Given the description of an element on the screen output the (x, y) to click on. 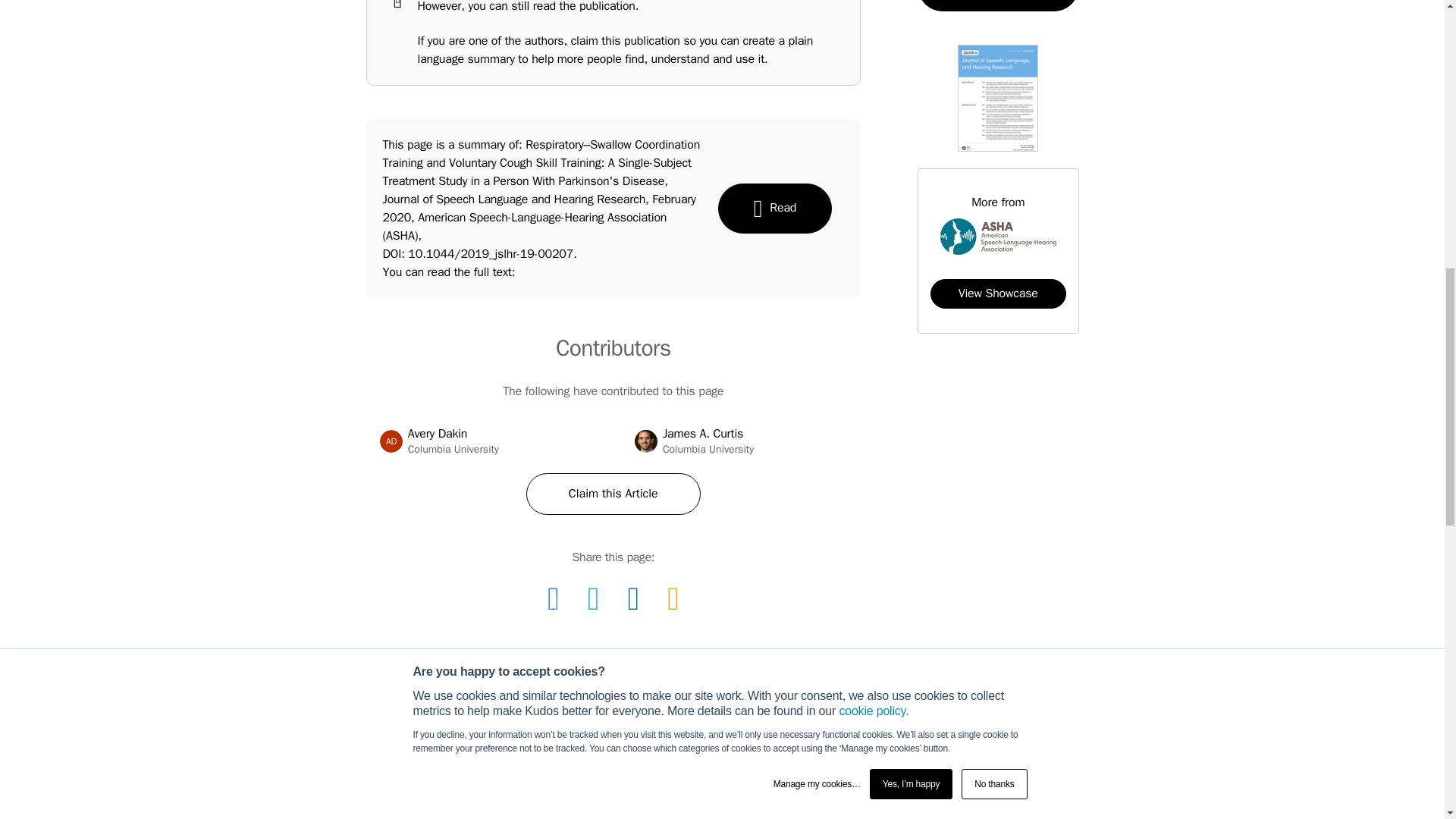
Share this page via Facebook (553, 598)
Share this page via email (672, 598)
View Showcase (997, 293)
Read (774, 208)
Share this page via LinkedIn (391, 440)
Claim this Article (633, 598)
Read Article (740, 440)
Share this page via Twitter (612, 494)
